Given the description of an element on the screen output the (x, y) to click on. 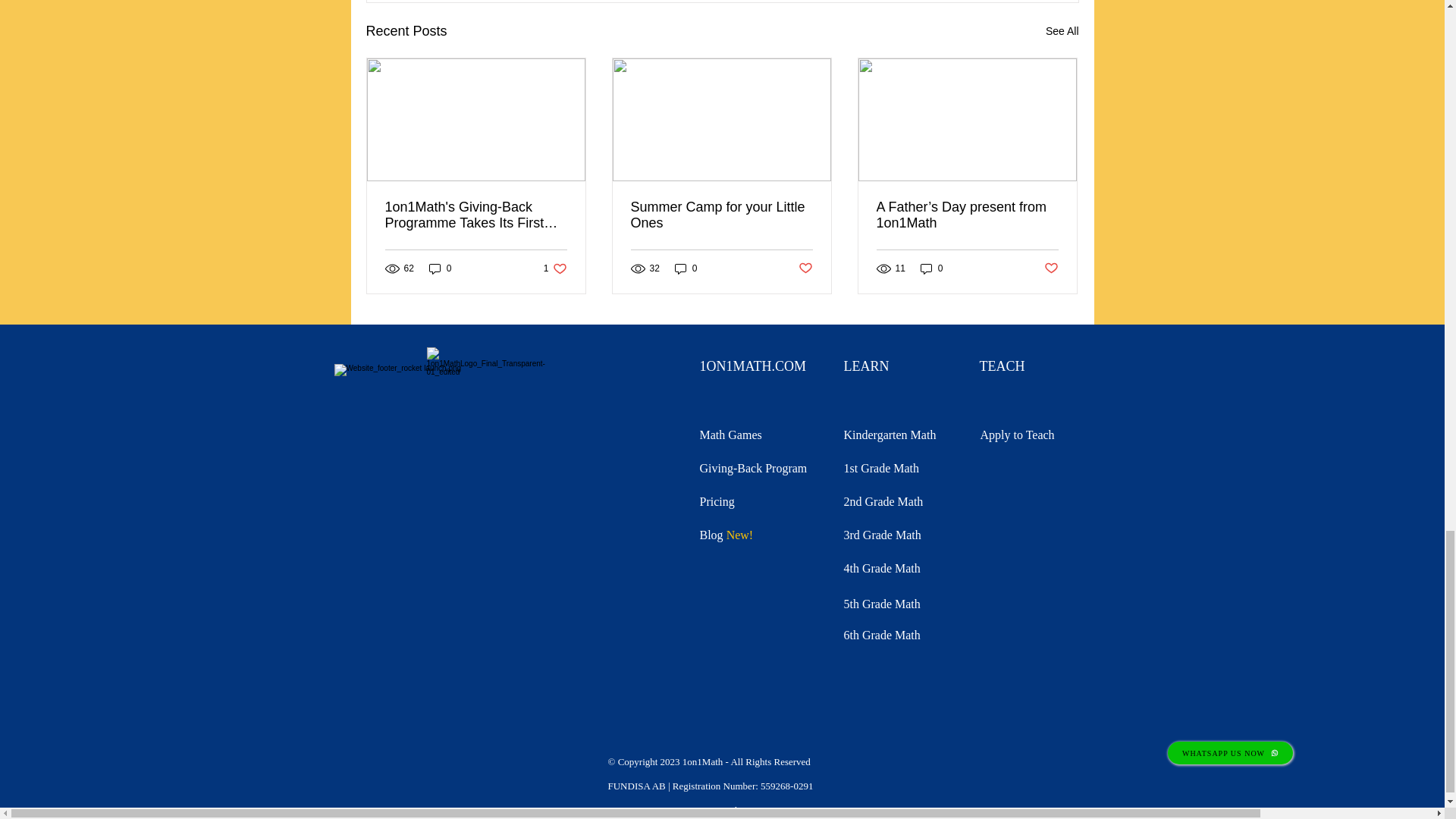
0 (931, 268)
Post not marked as liked (1050, 268)
Summer Camp for your Little Ones (721, 214)
0 (685, 268)
0 (440, 268)
Pricing (715, 501)
LEARN (865, 365)
See All (1061, 31)
Blog New! (725, 534)
Giving-Back Program (555, 268)
Kindergarten Math (752, 468)
Math Games (889, 434)
TEACH (729, 434)
Post not marked as liked (1002, 365)
